Given the description of an element on the screen output the (x, y) to click on. 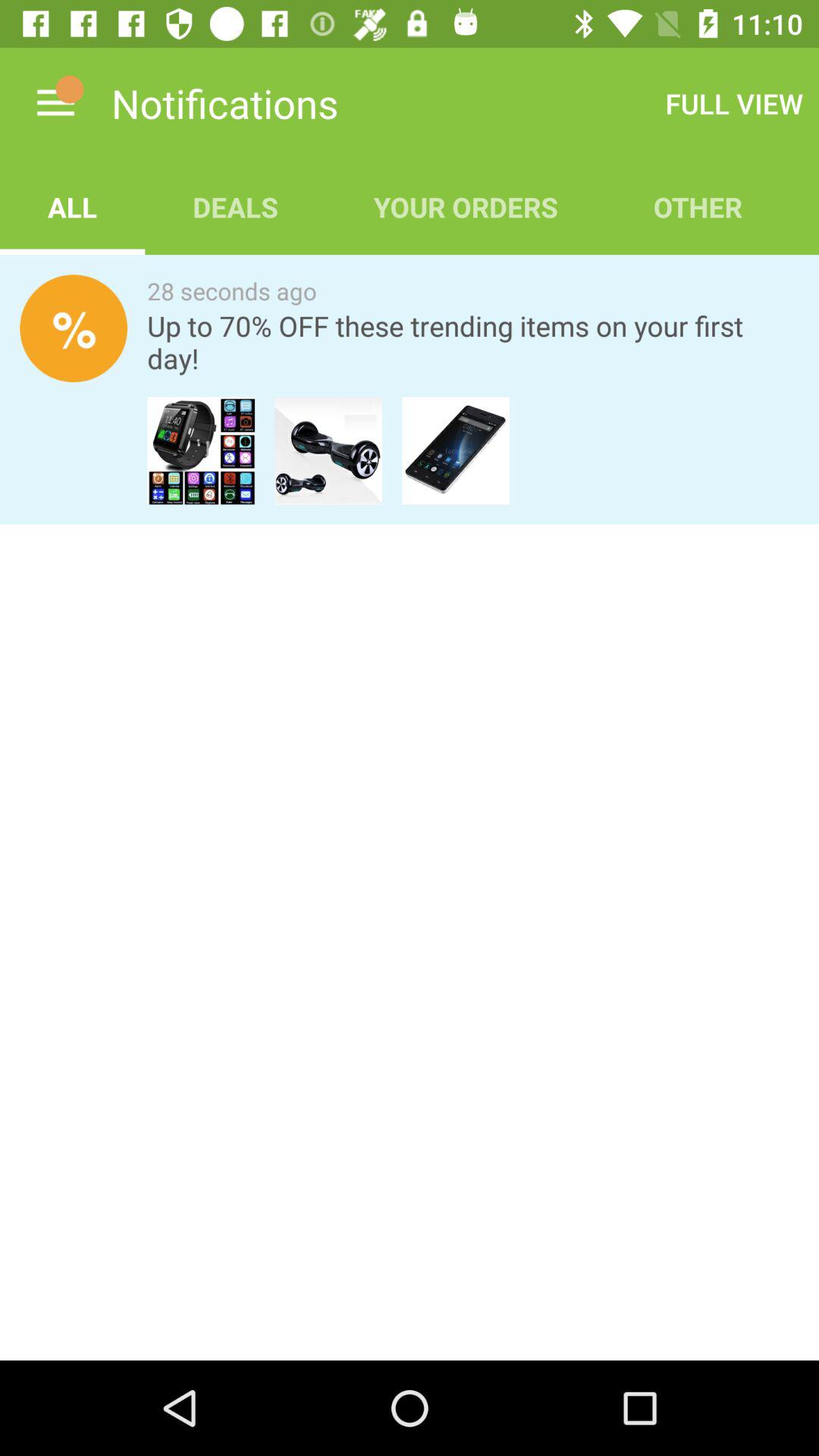
turn on all (72, 206)
